Given the description of an element on the screen output the (x, y) to click on. 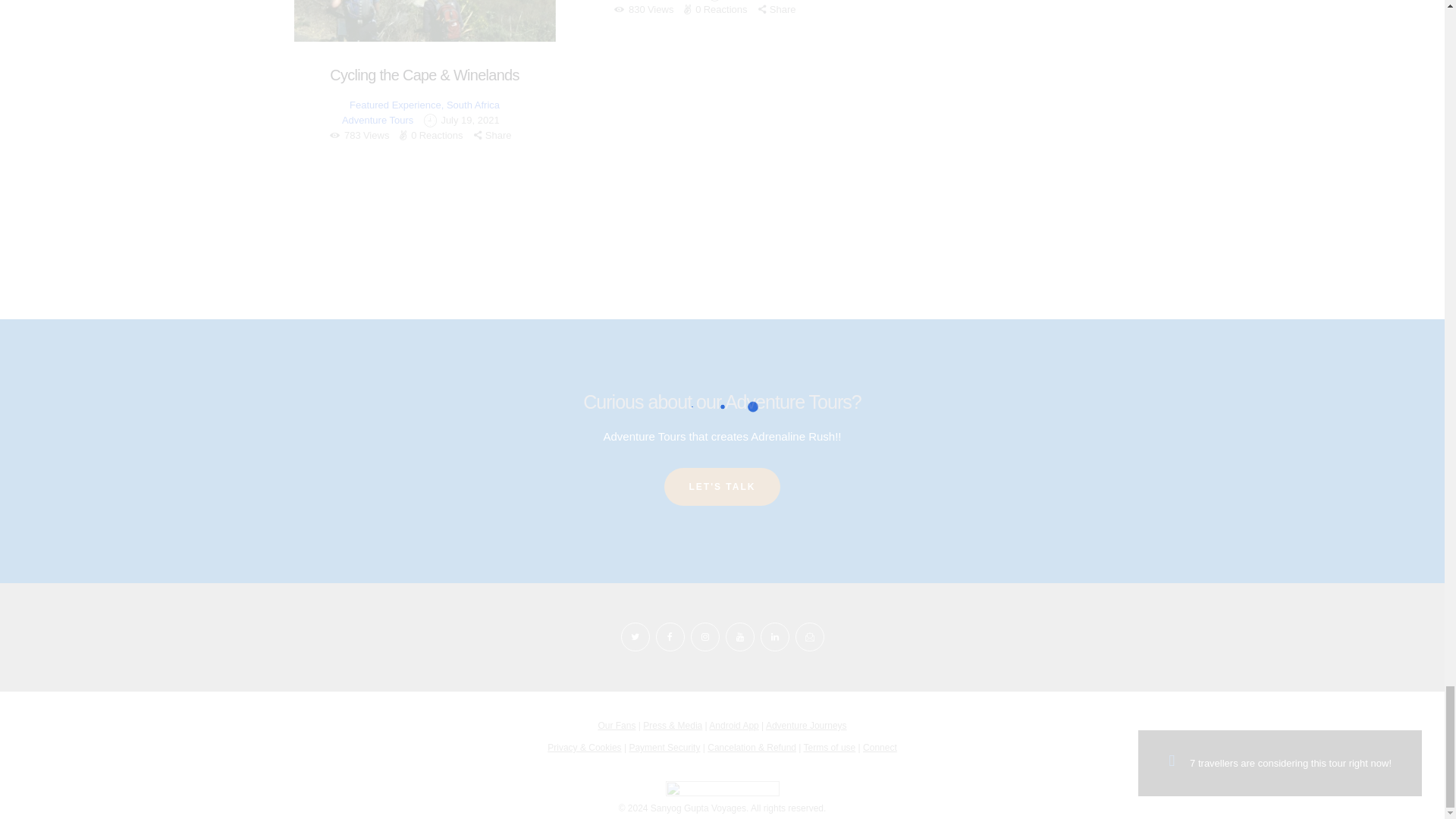
View all posts in Featured Experience (395, 104)
View all posts in South Africa Adventure Tours (420, 112)
